Given the description of an element on the screen output the (x, y) to click on. 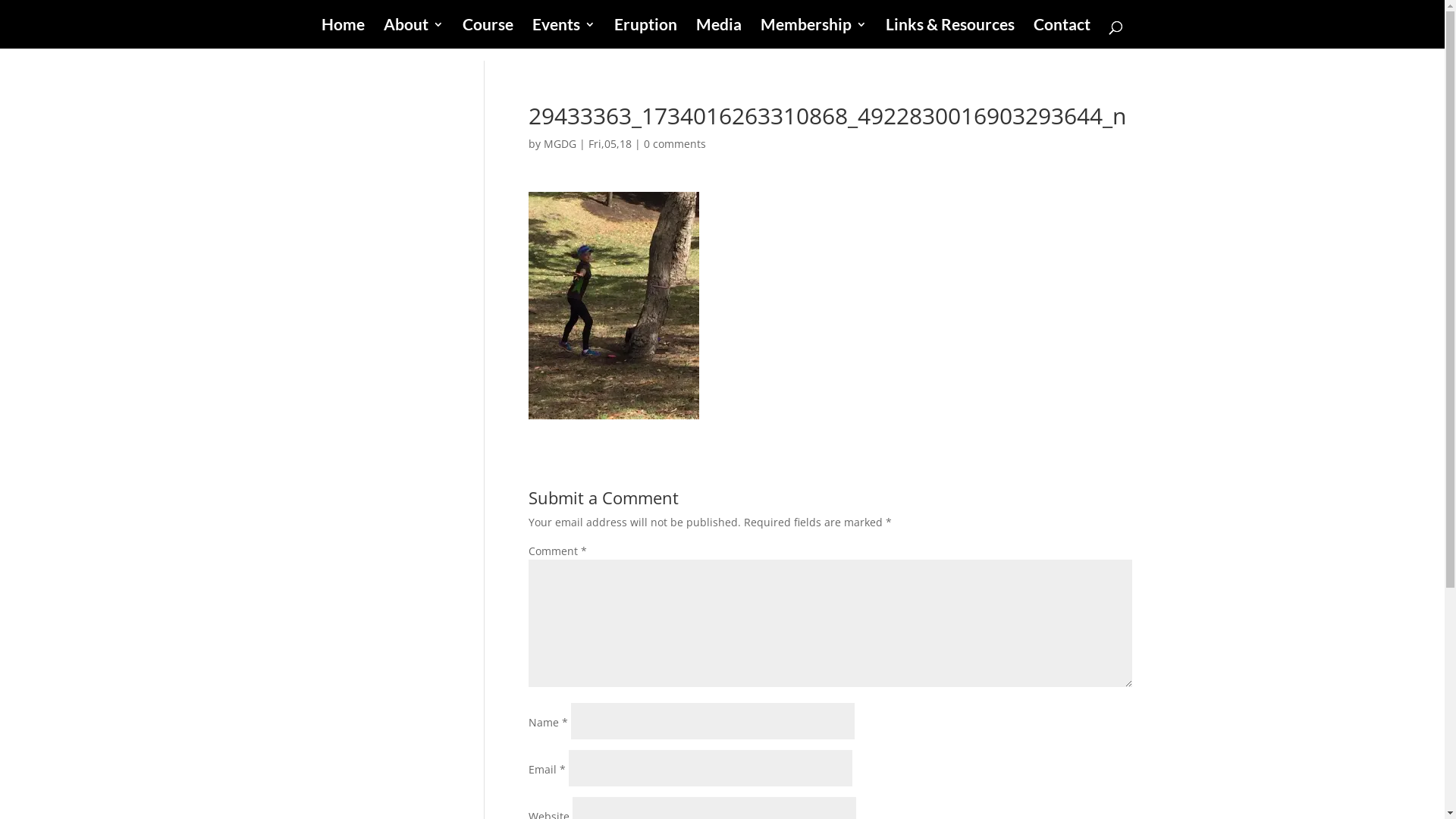
Contact Element type: text (1061, 33)
Course Element type: text (487, 33)
About Element type: text (413, 33)
0 comments Element type: text (674, 143)
Home Element type: text (342, 33)
Links & Resources Element type: text (949, 33)
Eruption Element type: text (645, 33)
MGDG Element type: text (559, 143)
Events Element type: text (563, 33)
Media Element type: text (718, 33)
Membership Element type: text (813, 33)
